Given the description of an element on the screen output the (x, y) to click on. 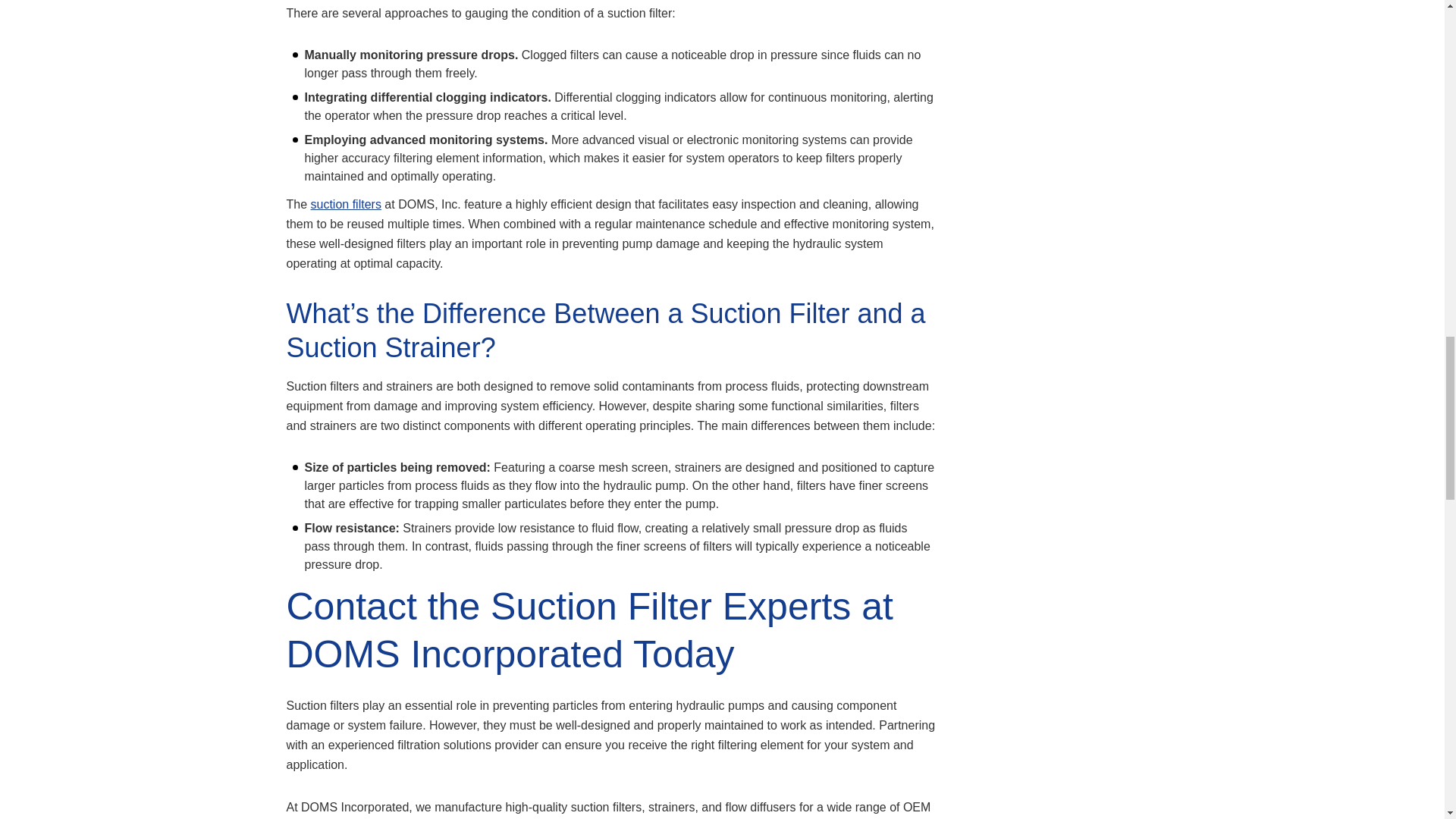
How Often Should You Change Hydraulic Suction Filters? (833, 8)
suction filters (346, 204)
